Given the description of an element on the screen output the (x, y) to click on. 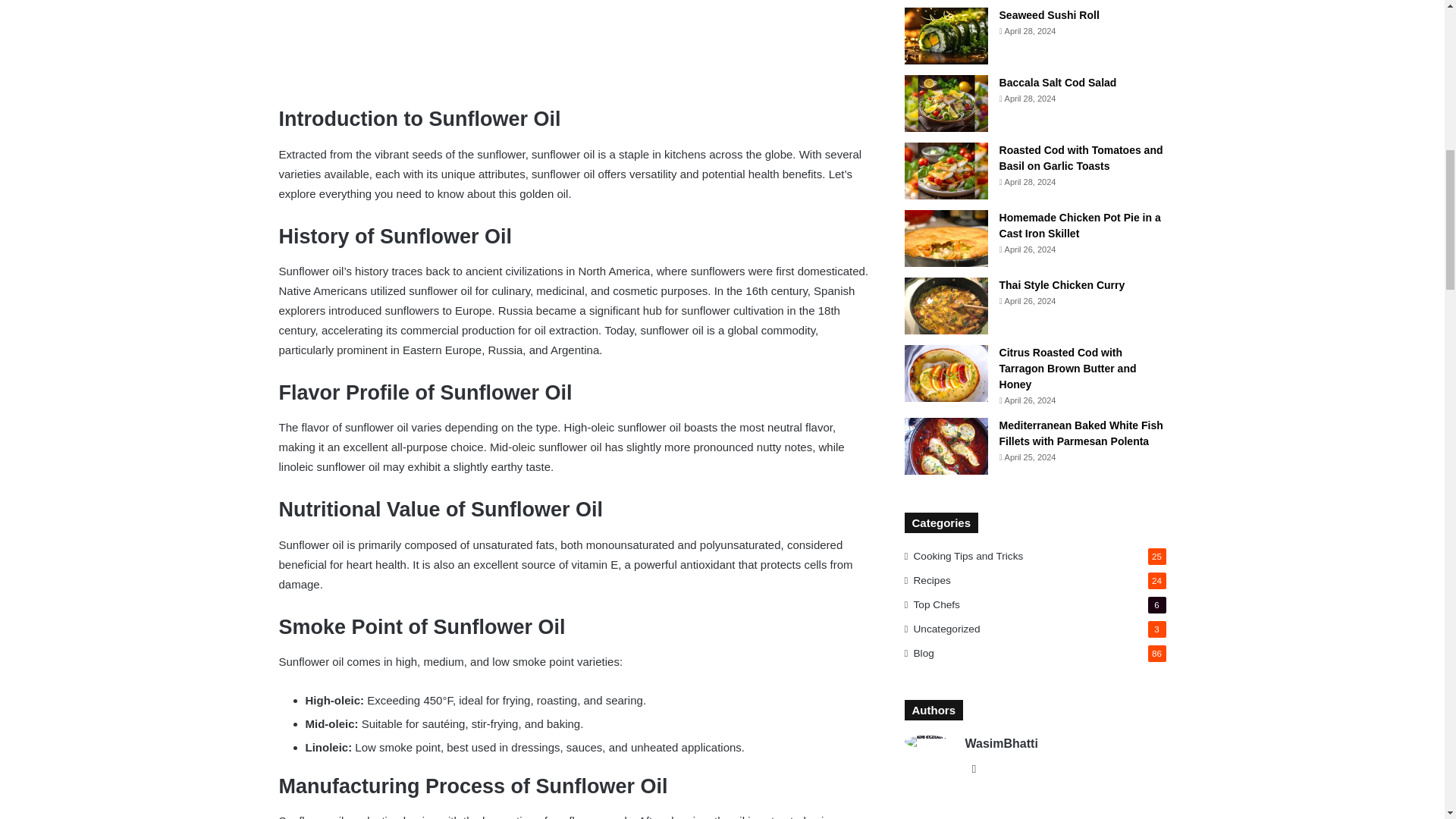
Advertisement (574, 41)
